Given the description of an element on the screen output the (x, y) to click on. 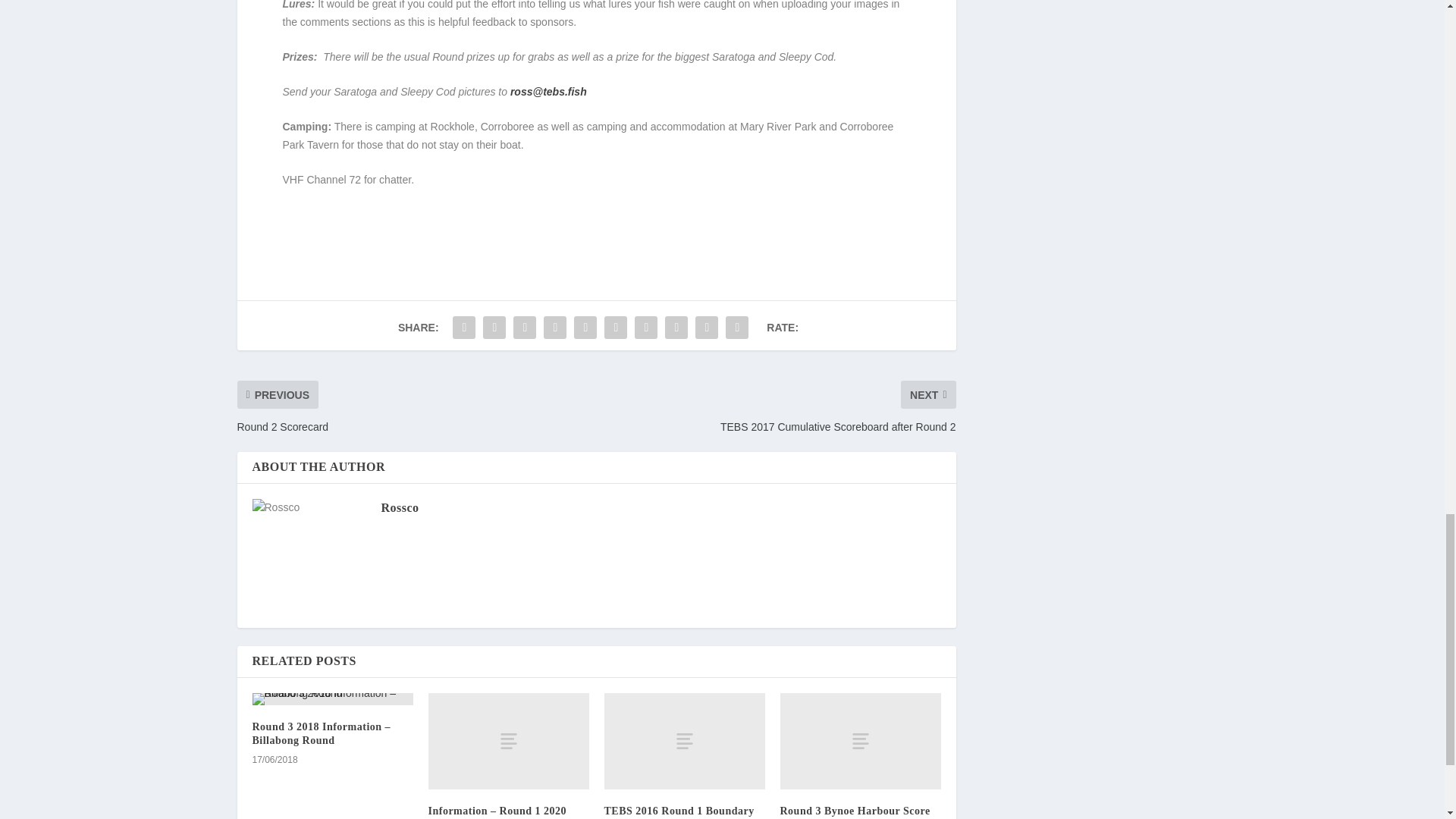
Round 3 Bynoe Harbour Score Card 2023 (854, 812)
TEBS 2016 Round 1 Boundary Information (679, 812)
Rossco (399, 507)
View all posts by Rossco (399, 507)
